Given the description of an element on the screen output the (x, y) to click on. 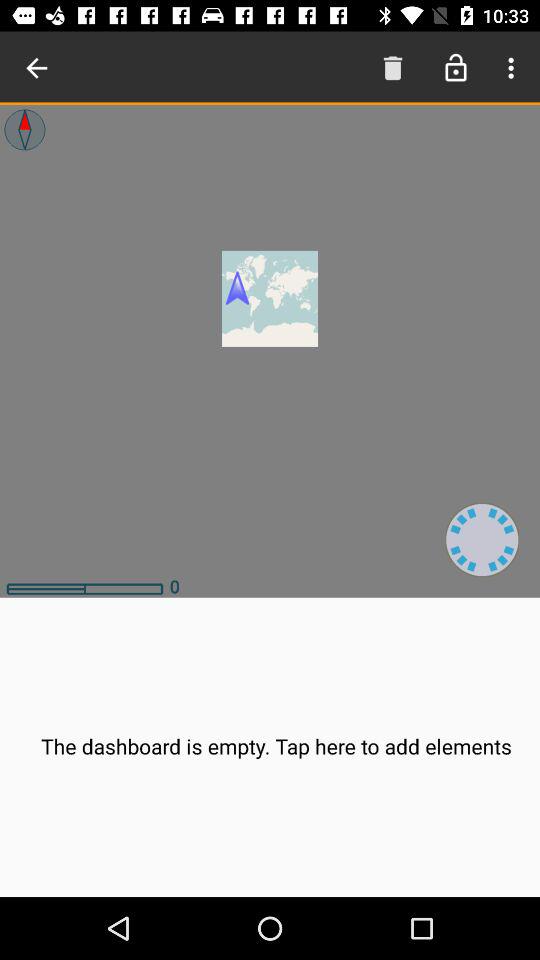
menu button (508, 67)
